Given the description of an element on the screen output the (x, y) to click on. 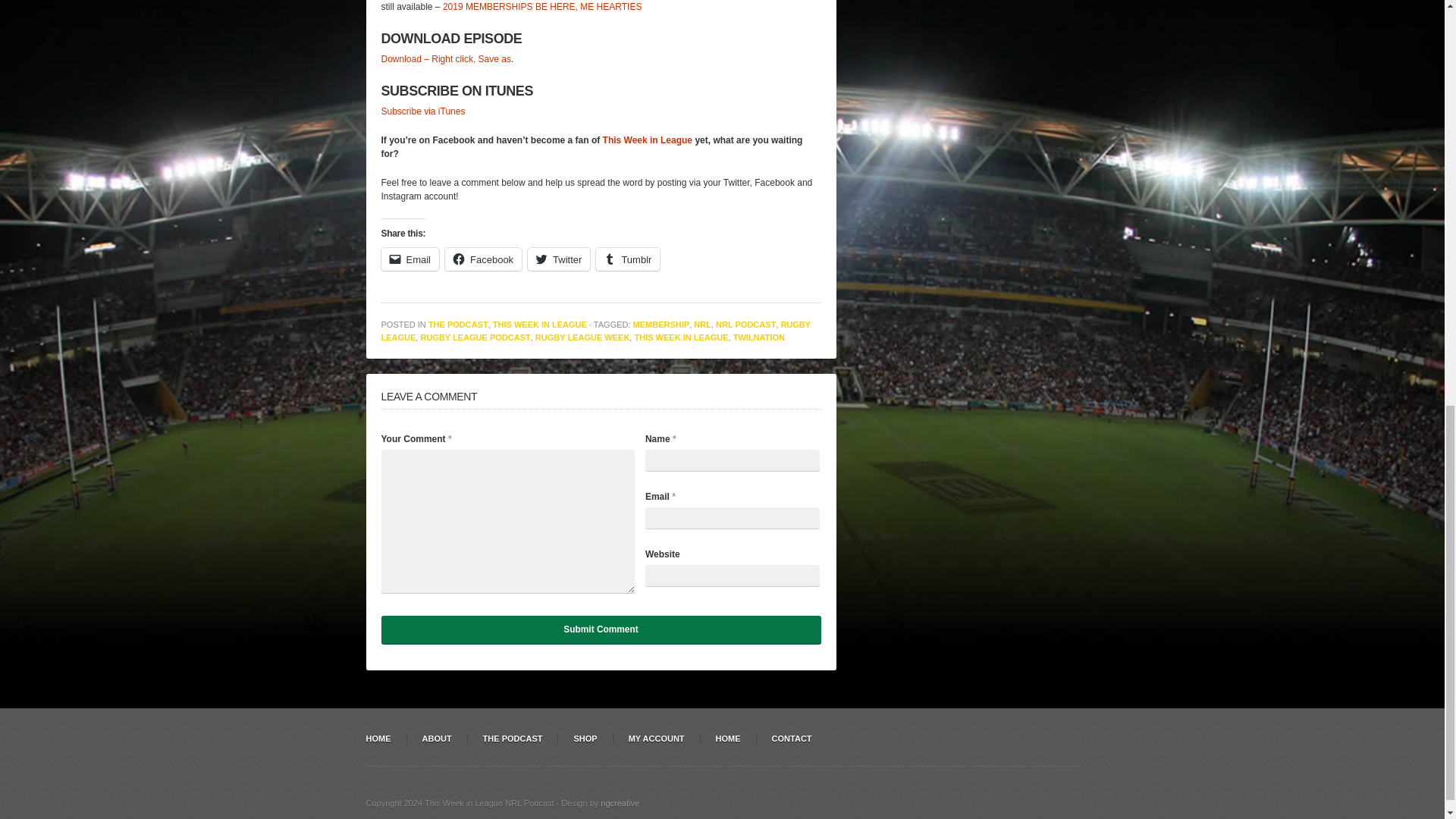
RUGBY LEAGUE WEEK (581, 337)
2019 MEMBERSHIPS BE HERE, ME HEARTIES (542, 6)
Click to share on Facebook (483, 259)
Tumblr (627, 259)
Subscribe via iTunes (422, 111)
MEMBERSHIP (661, 324)
Submit Comment (600, 629)
Click to email a link to a friend (409, 259)
NRL PODCAST (746, 324)
Web design Brisbane Australia (619, 802)
TWILNATION (758, 337)
Click to share on Tumblr (627, 259)
RUGBY LEAGUE (594, 331)
THIS WEEK IN LEAGUE (539, 324)
Click to share on Twitter (558, 259)
